Given the description of an element on the screen output the (x, y) to click on. 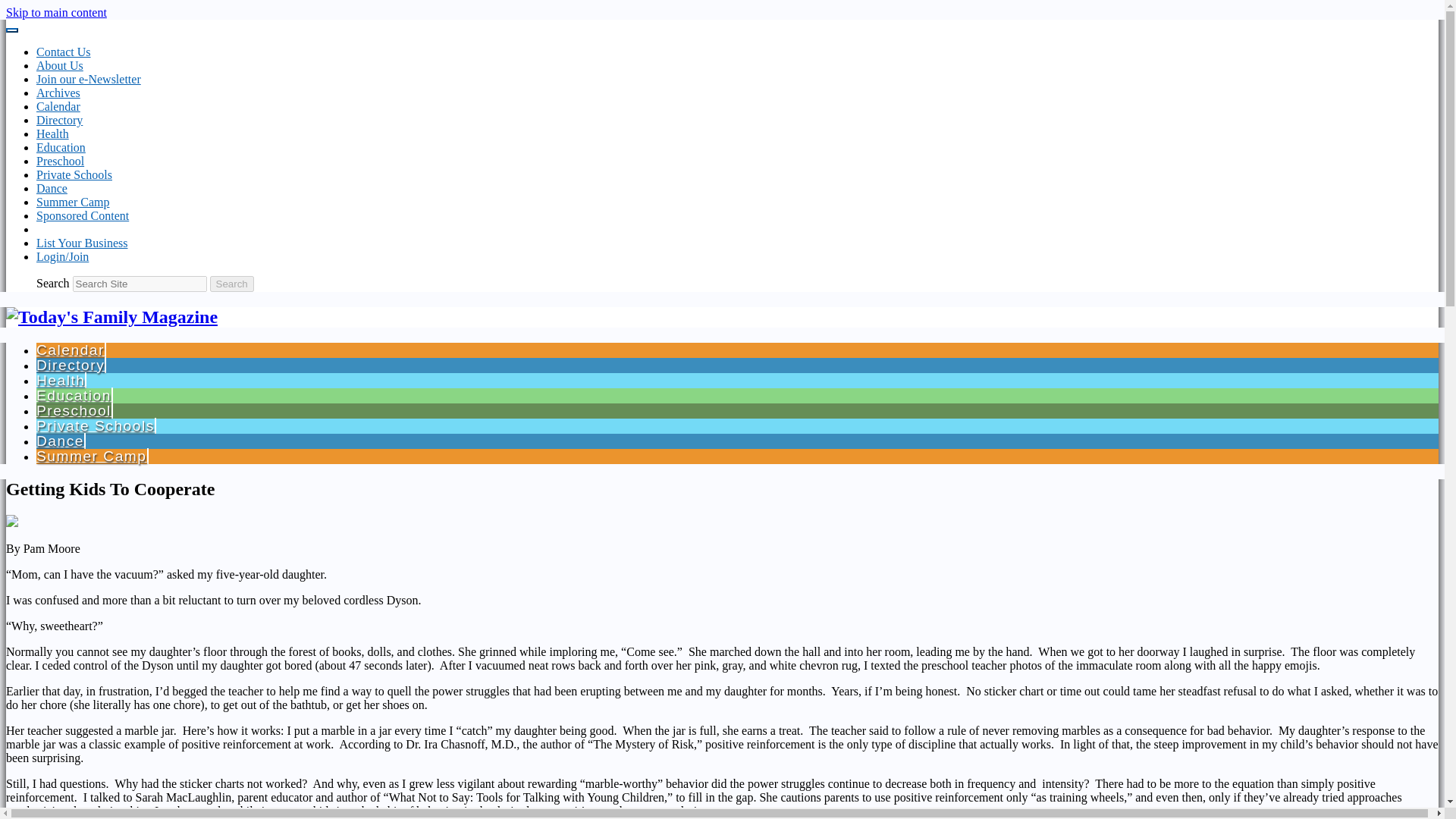
About Us (59, 65)
Private Schools (95, 425)
Preschool (74, 410)
Calendar (71, 349)
Calendar (58, 106)
Skip to main content (55, 11)
Sponsored Content (82, 215)
Join our e-Newsletter (88, 78)
Search (231, 283)
Directory (71, 365)
Dance (51, 187)
Education (60, 146)
Health (60, 380)
Education (74, 395)
Archives (58, 92)
